Given the description of an element on the screen output the (x, y) to click on. 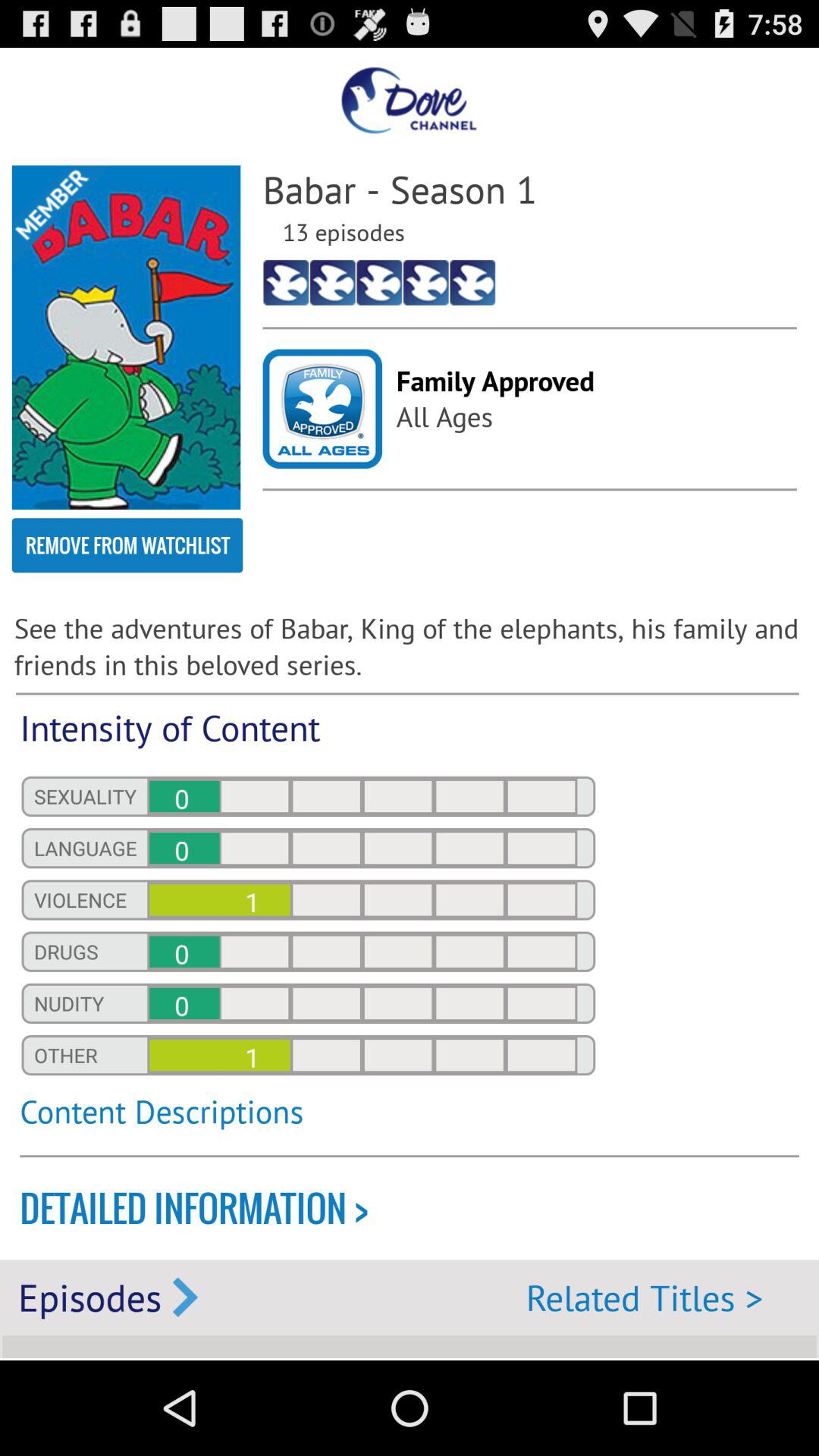
tap app next to the babar - season 1 icon (125, 337)
